Given the description of an element on the screen output the (x, y) to click on. 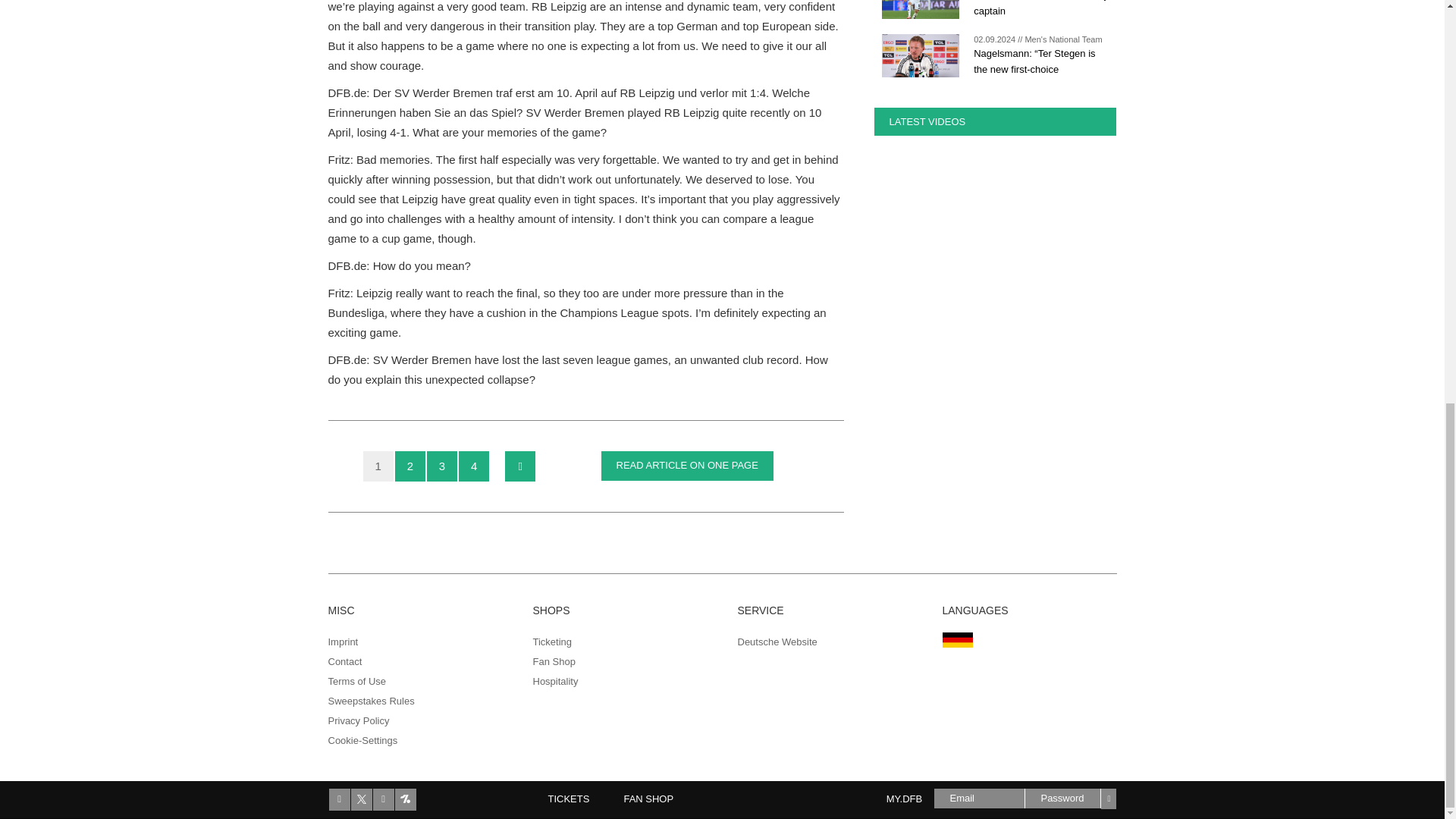
Read article on one page (686, 465)
Contact (344, 661)
Kimmich named new Germany captain (1041, 8)
3 (441, 465)
Terms of Use (356, 681)
READ ARTICLE ON ONE PAGE (686, 465)
2 (409, 465)
Imago Images (919, 9)
Privacy Policy (357, 720)
Imprint (342, 642)
